Given the description of an element on the screen output the (x, y) to click on. 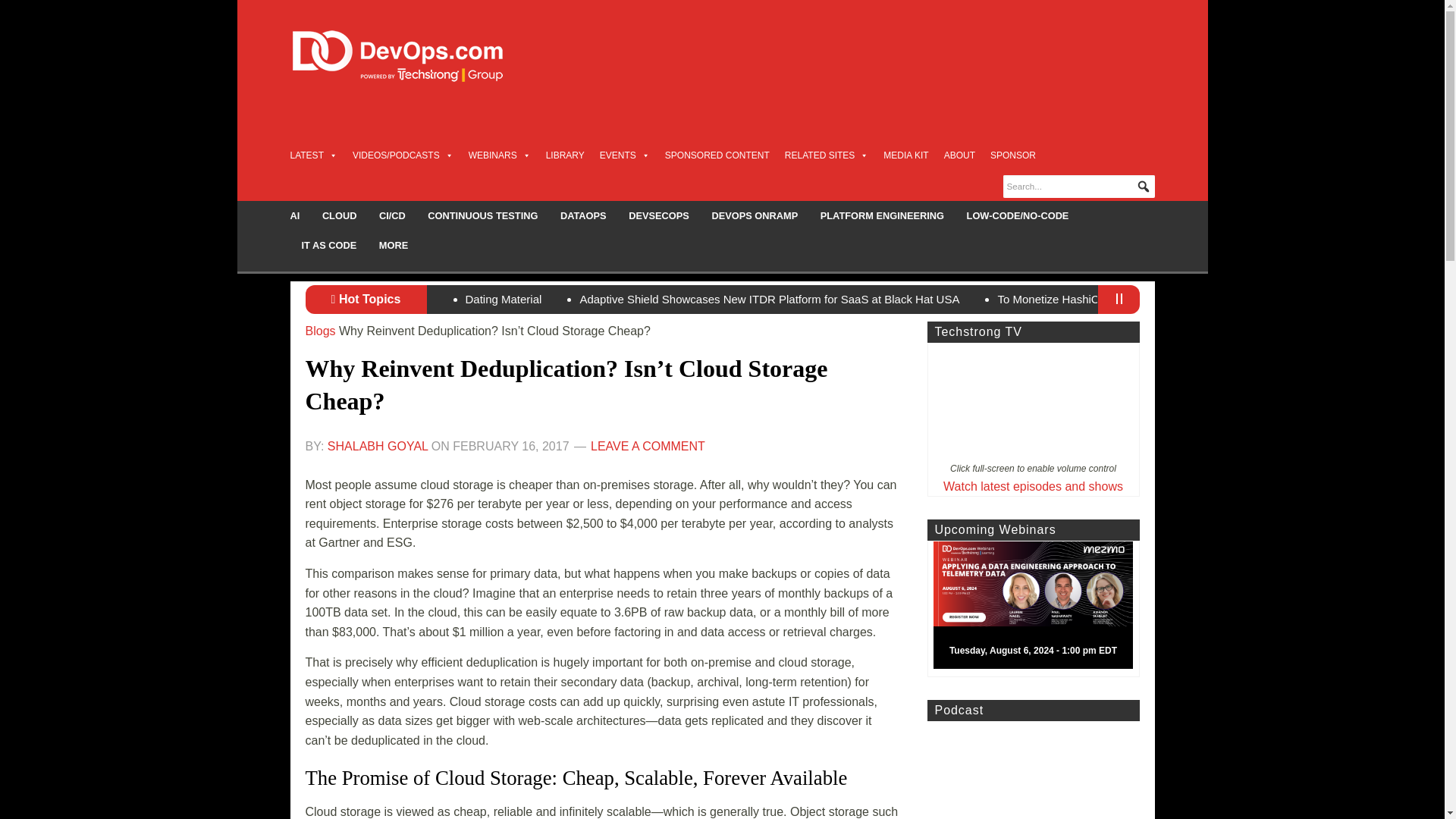
RELATED SITES (825, 155)
DEVOPS.COM (414, 56)
WEBINARS (499, 155)
LIBRARY (565, 155)
EVENTS (624, 155)
LATEST (312, 155)
Dating Material (503, 298)
Tuesday, August 6, 2024 - 1:00 pm EDT (1038, 608)
SPONSORED CONTENT (717, 155)
